Given the description of an element on the screen output the (x, y) to click on. 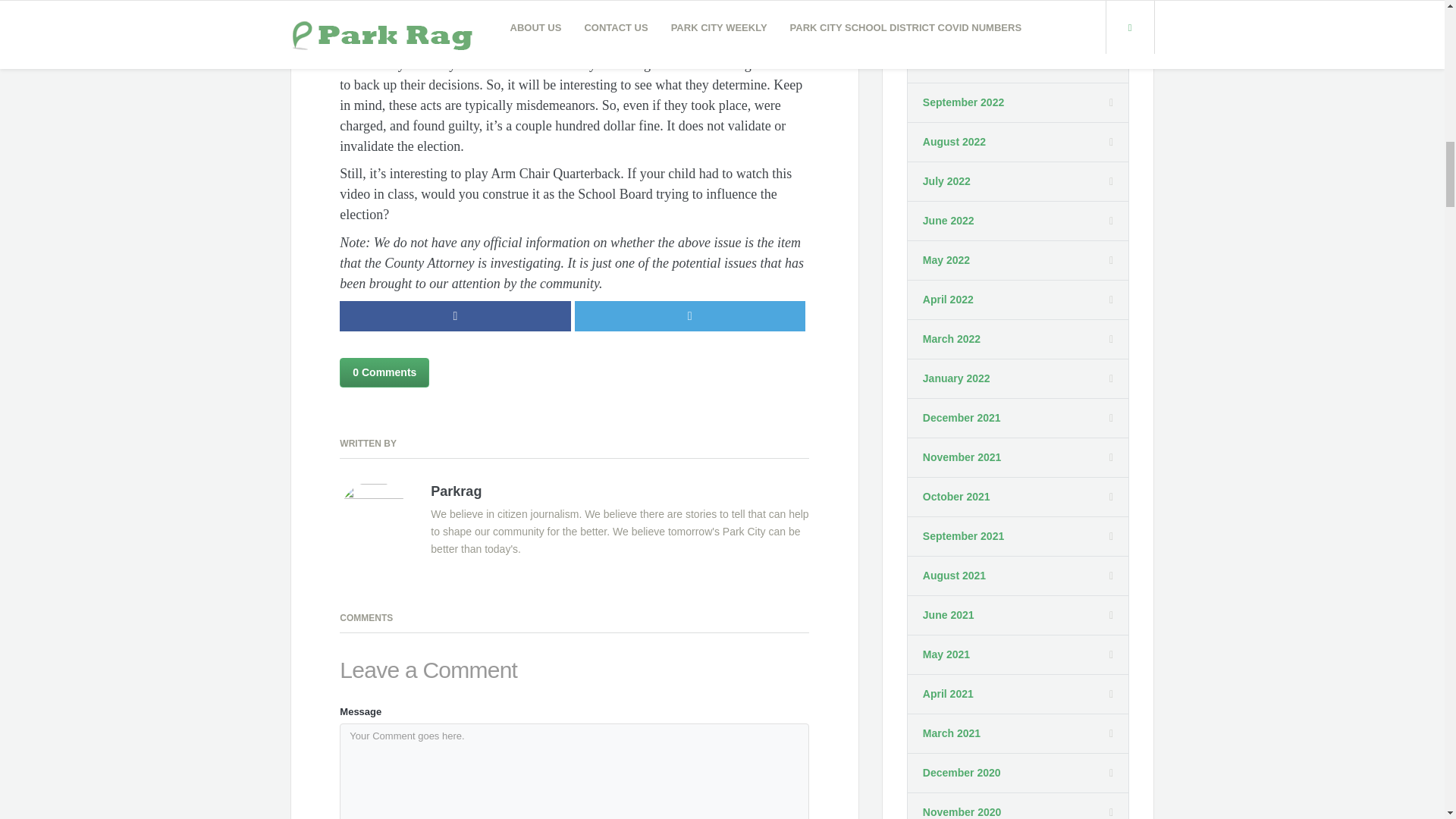
Parkrag (455, 491)
0 Comments (384, 372)
